Given the description of an element on the screen output the (x, y) to click on. 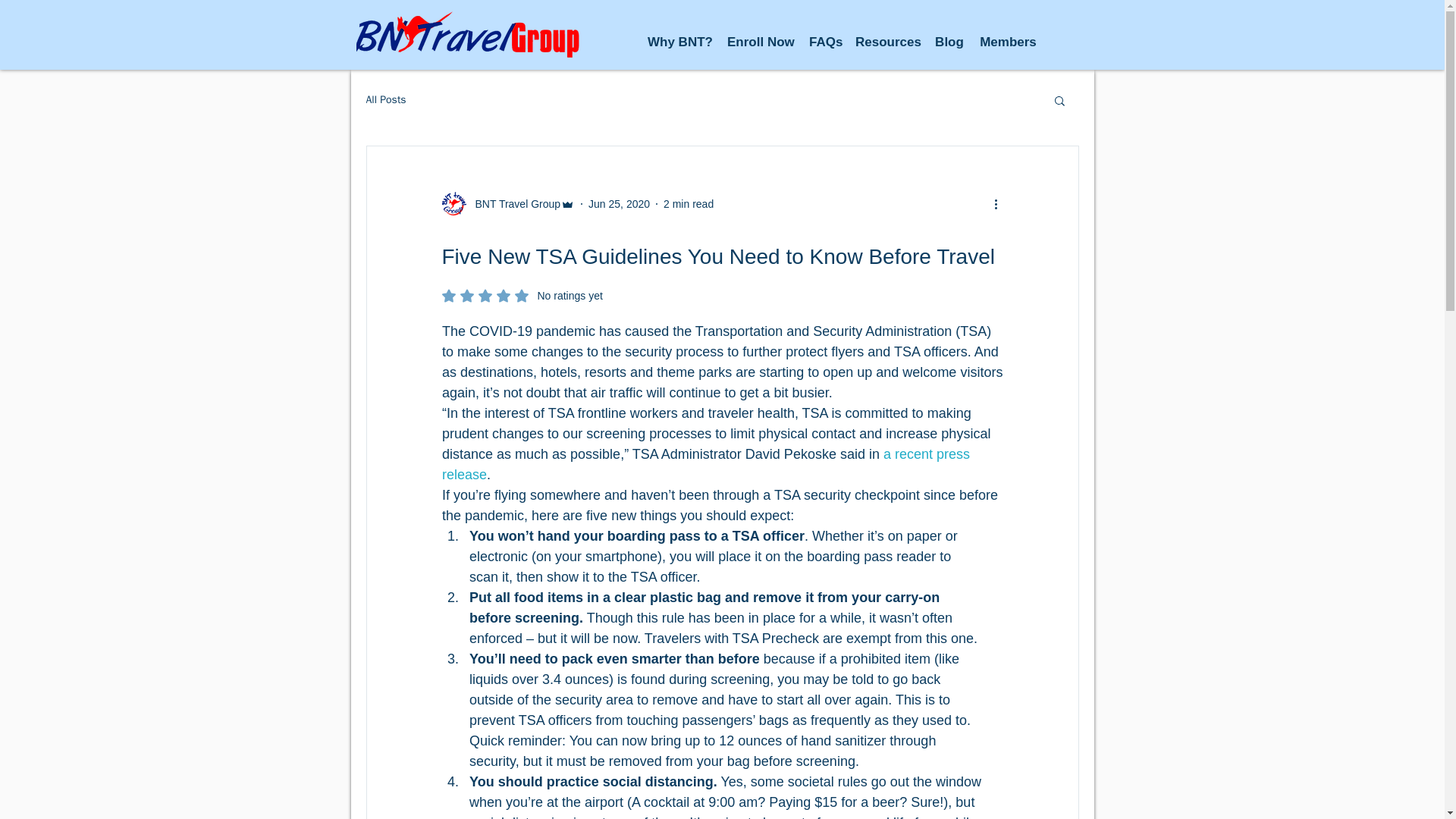
Resources (887, 42)
All Posts (385, 100)
Blog (949, 42)
Why BNT? (679, 42)
FAQs (824, 42)
BNT Travel Group (508, 203)
2 min read (521, 295)
Enroll Now (688, 203)
a recent press release (760, 42)
